Given the description of an element on the screen output the (x, y) to click on. 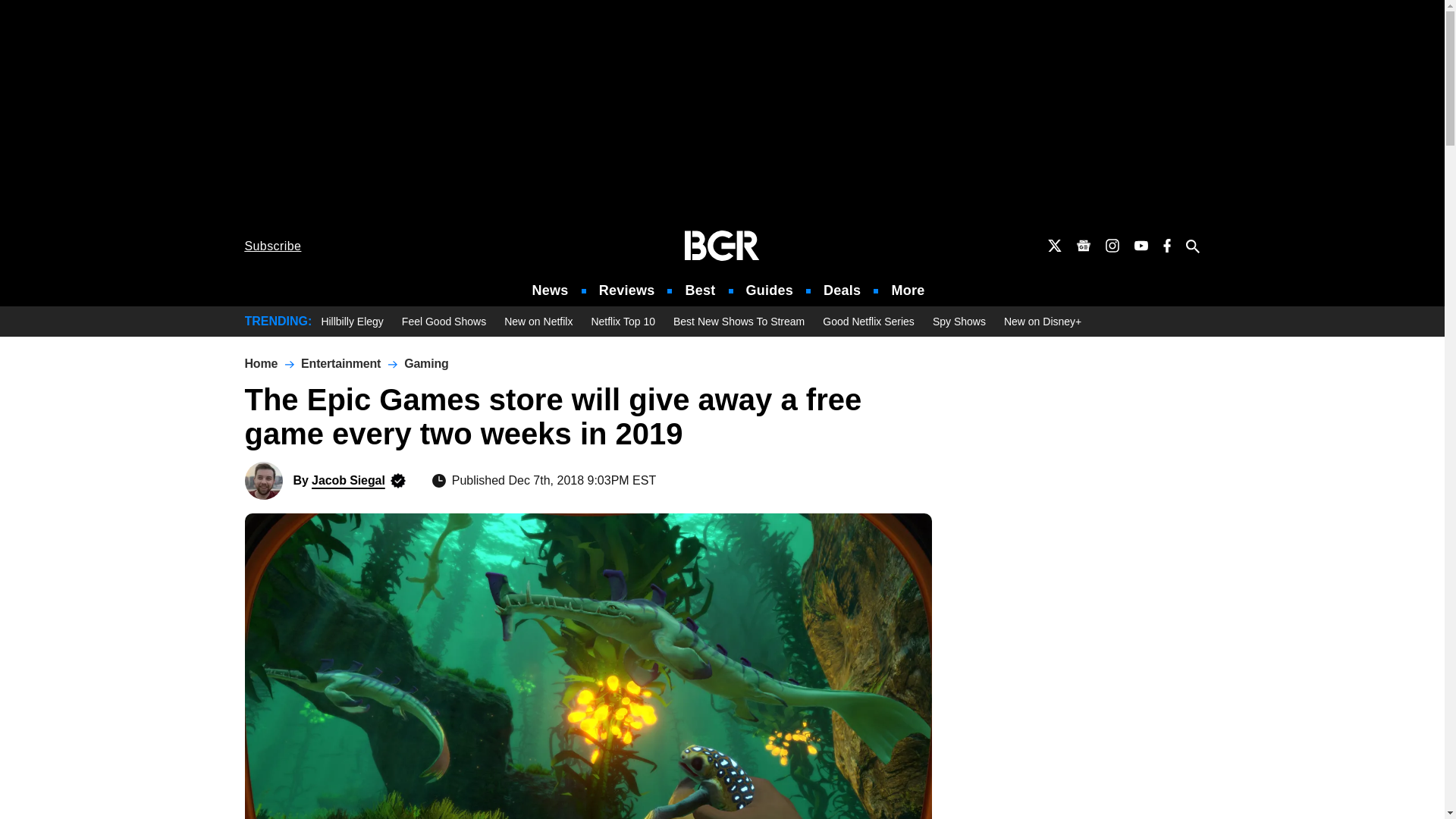
Deals (842, 290)
More (907, 290)
Reviews (626, 290)
Posts by Jacob Siegal (348, 480)
News (550, 290)
Subscribe (272, 245)
Best (699, 290)
Guides (769, 290)
